Given the description of an element on the screen output the (x, y) to click on. 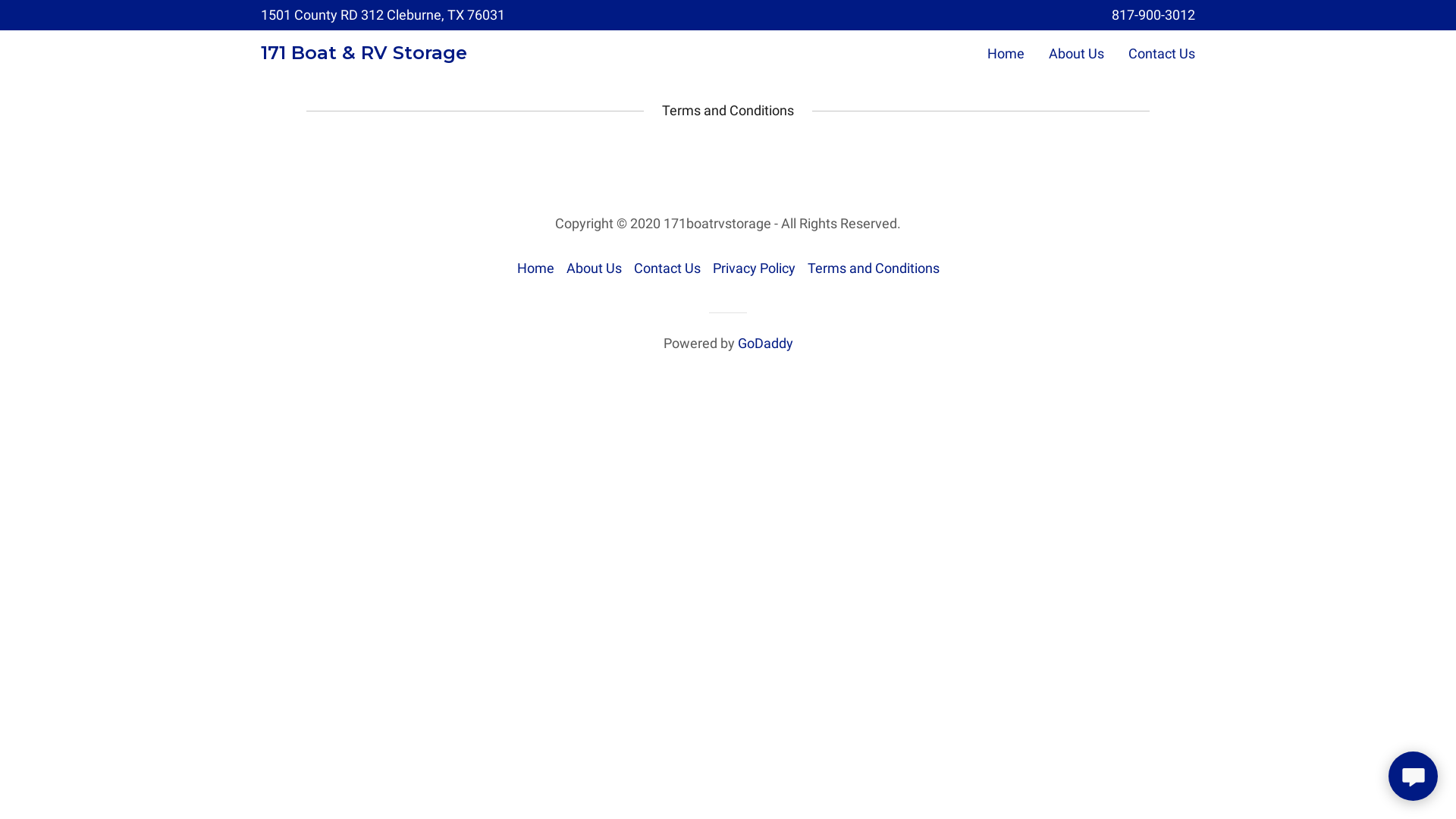
Contact Us Element type: text (1161, 52)
171 Boat & RV Storage Element type: text (363, 54)
Contact Us Element type: text (666, 268)
817-900-3012 Element type: text (1153, 14)
GoDaddy Element type: text (764, 343)
Home Element type: text (535, 268)
Home Element type: text (1005, 52)
About Us Element type: text (593, 268)
Privacy Policy Element type: text (753, 268)
About Us Element type: text (1076, 52)
Terms and Conditions Element type: text (872, 268)
